Given the description of an element on the screen output the (x, y) to click on. 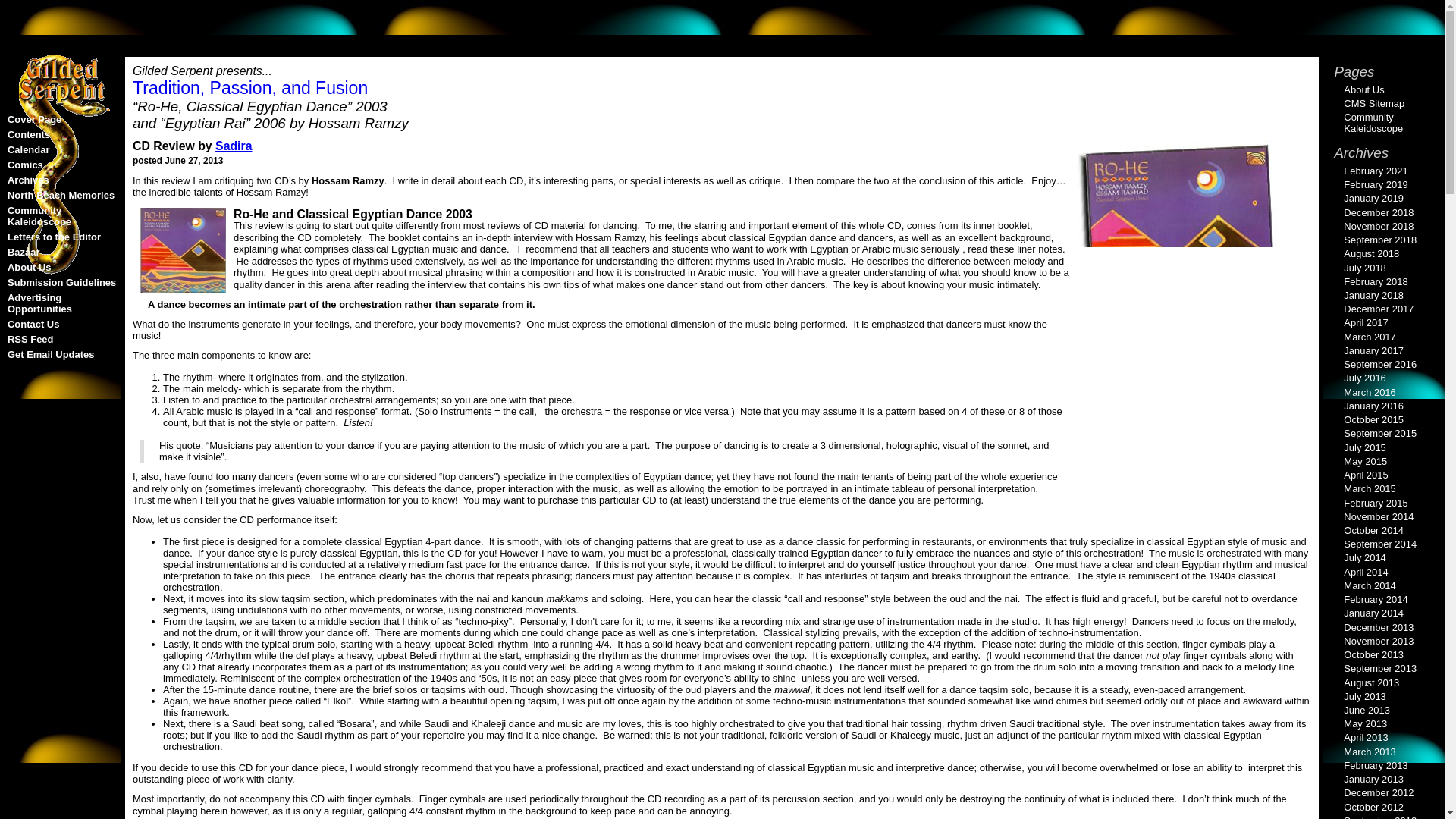
February 2019 (1375, 184)
Community Kaleidoscope (39, 215)
Cover Page (34, 119)
About Us (28, 266)
Bazaar (23, 251)
Letters to the Editor (53, 236)
Archives (28, 179)
Calendar (28, 149)
Contents (28, 134)
RSS Feed (29, 338)
